Given the description of an element on the screen output the (x, y) to click on. 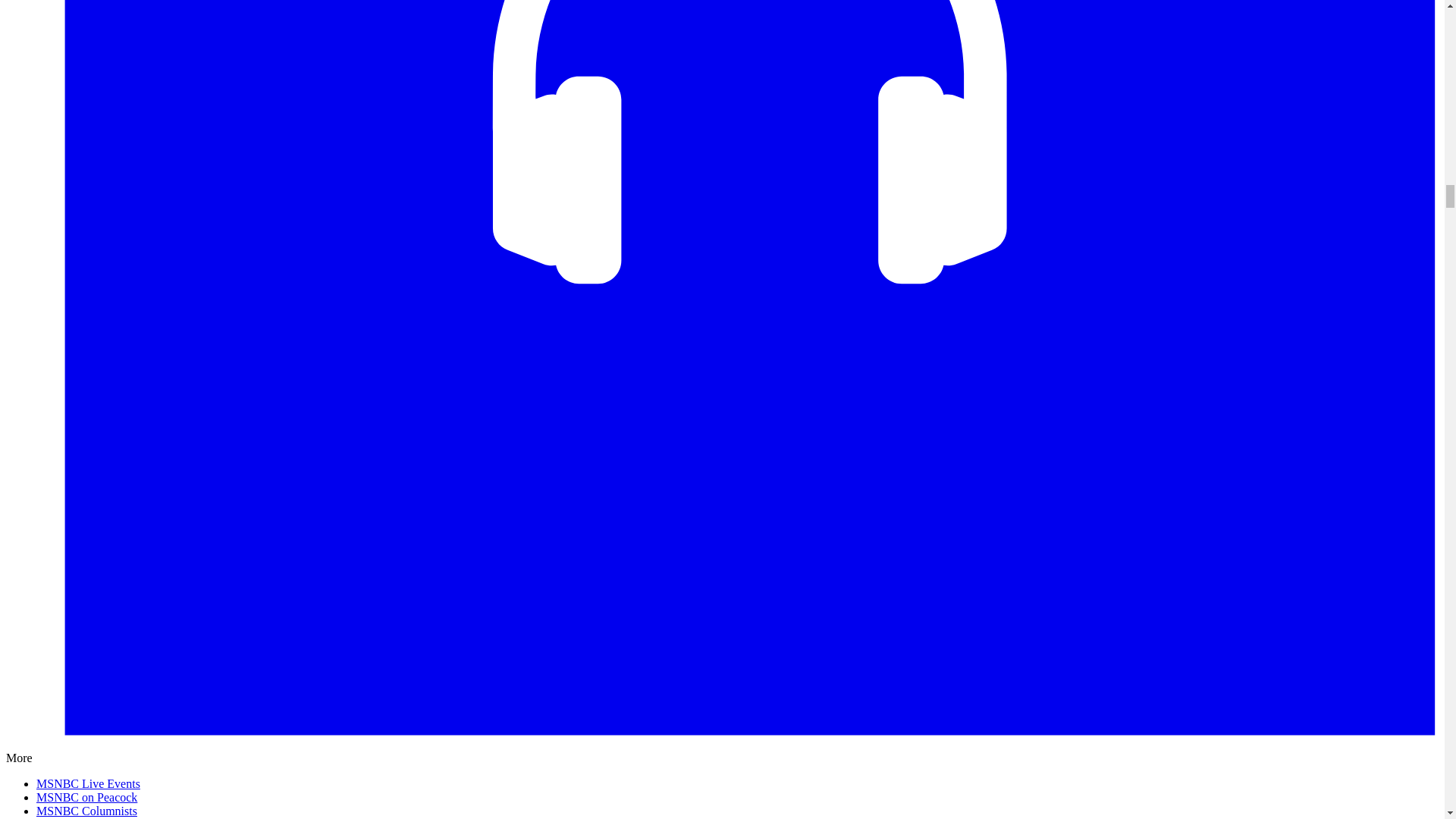
MSNBC on Peacock (86, 797)
MSNBC Live Events (87, 783)
